Given the description of an element on the screen output the (x, y) to click on. 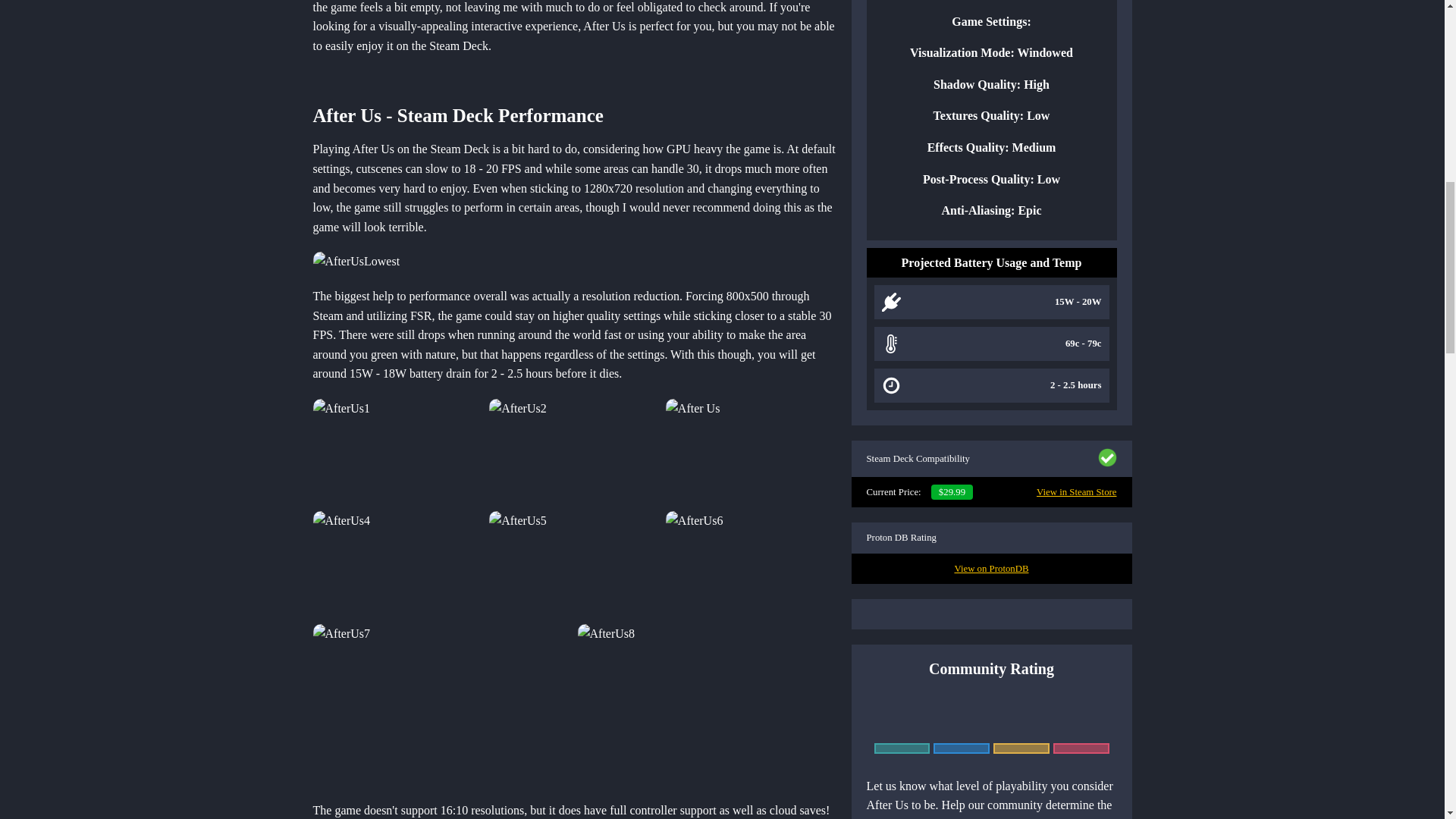
After Us 5 (398, 564)
After Us 9 (706, 704)
After Us 6 (574, 564)
After Us 4 (750, 451)
After Us 8 (441, 704)
View in Steam Store (1076, 491)
View on ProtonDB (990, 568)
After Us 7 (750, 564)
After Us 2 (398, 451)
After Us 3 (574, 451)
After Us 1 (355, 261)
